Given the description of an element on the screen output the (x, y) to click on. 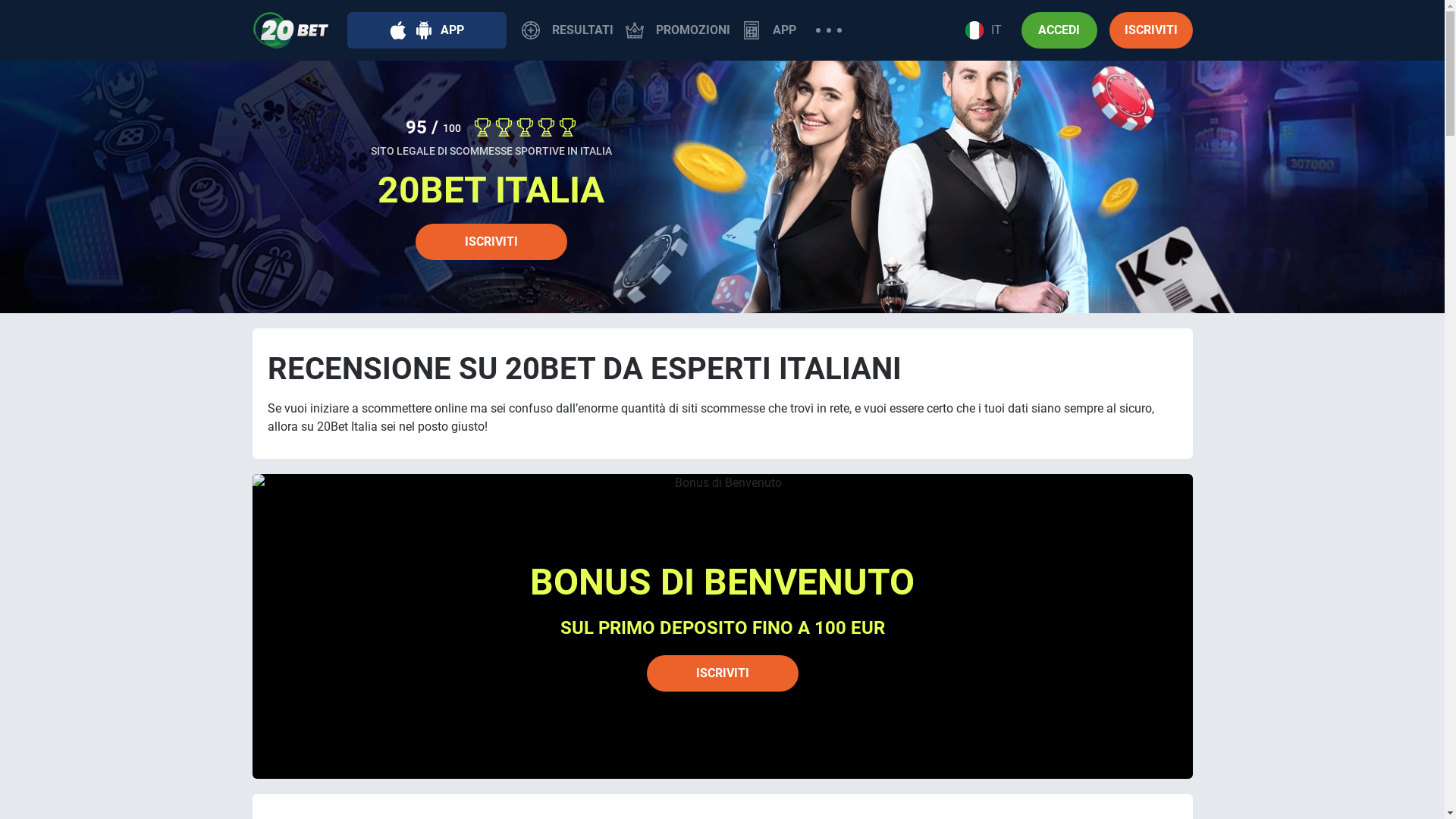
App Element type: hover (750, 30)
Promozioni Element type: hover (633, 30)
IOS Element type: hover (398, 30)
flag Element type: hover (973, 30)
20Bet Element type: hover (289, 30)
Android Element type: hover (423, 30)
APP Element type: text (426, 30)
ISCRIVITI Element type: text (721, 673)
ISCRIVITI Element type: text (1150, 30)
IT Element type: text (982, 30)
RESULTATI Element type: text (567, 30)
20Bet Italia Element type: hover (722, 186)
APP Element type: text (768, 30)
ACCEDI Element type: text (1058, 30)
Bookmaker Online Affidabile Element type: hover (525, 127)
Resultati Element type: hover (530, 30)
PROMOZIONI Element type: text (676, 30)
Bonus di Benvenuto Element type: hover (721, 625)
ISCRIVITI Element type: text (491, 241)
